Given the description of an element on the screen output the (x, y) to click on. 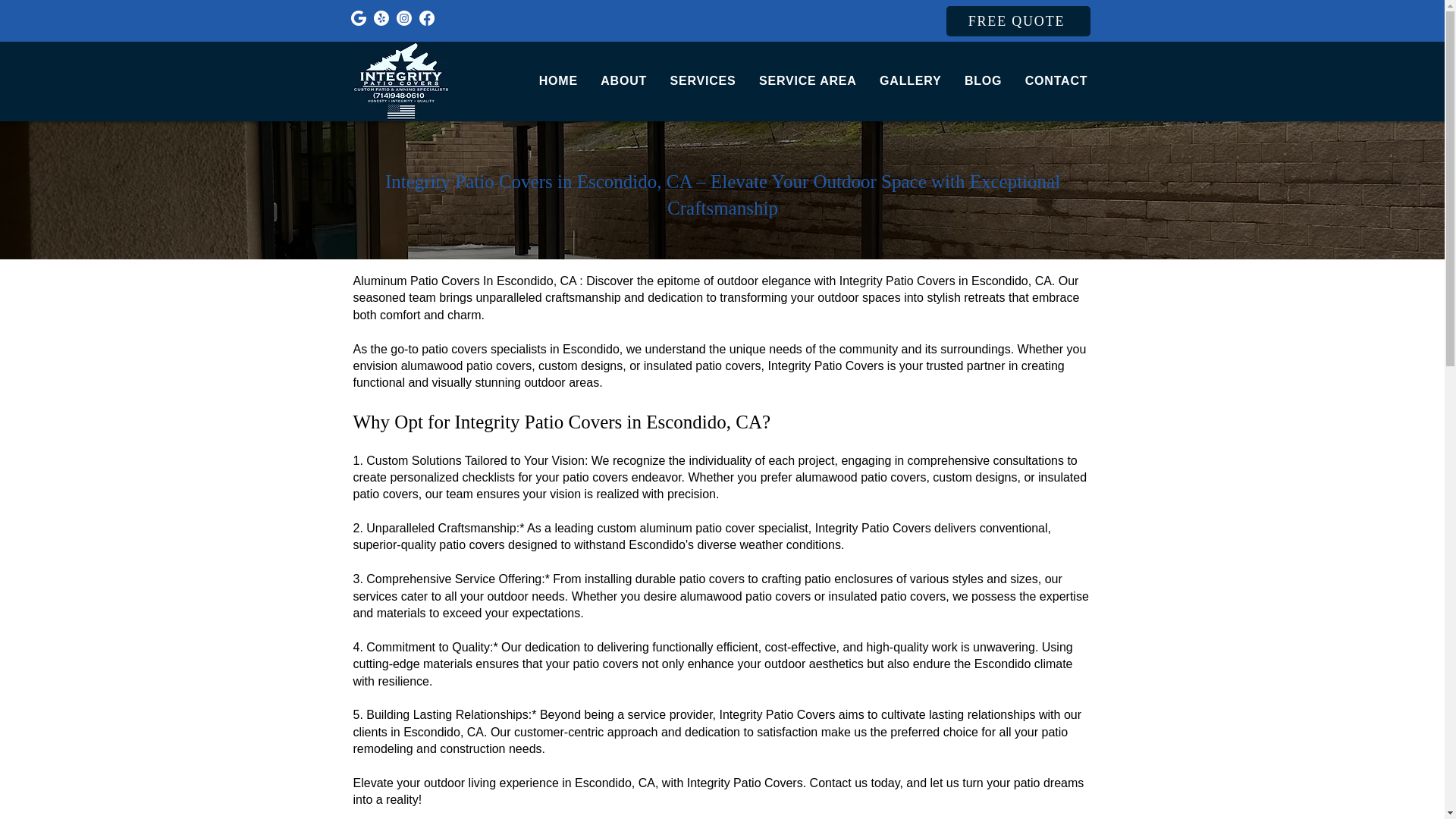
BLOG (983, 80)
CONTACT (1056, 80)
FREE QUOTE (1018, 20)
HOME (558, 80)
ABOUT (623, 80)
GALLERY (910, 80)
SERVICES (702, 80)
